Given the description of an element on the screen output the (x, y) to click on. 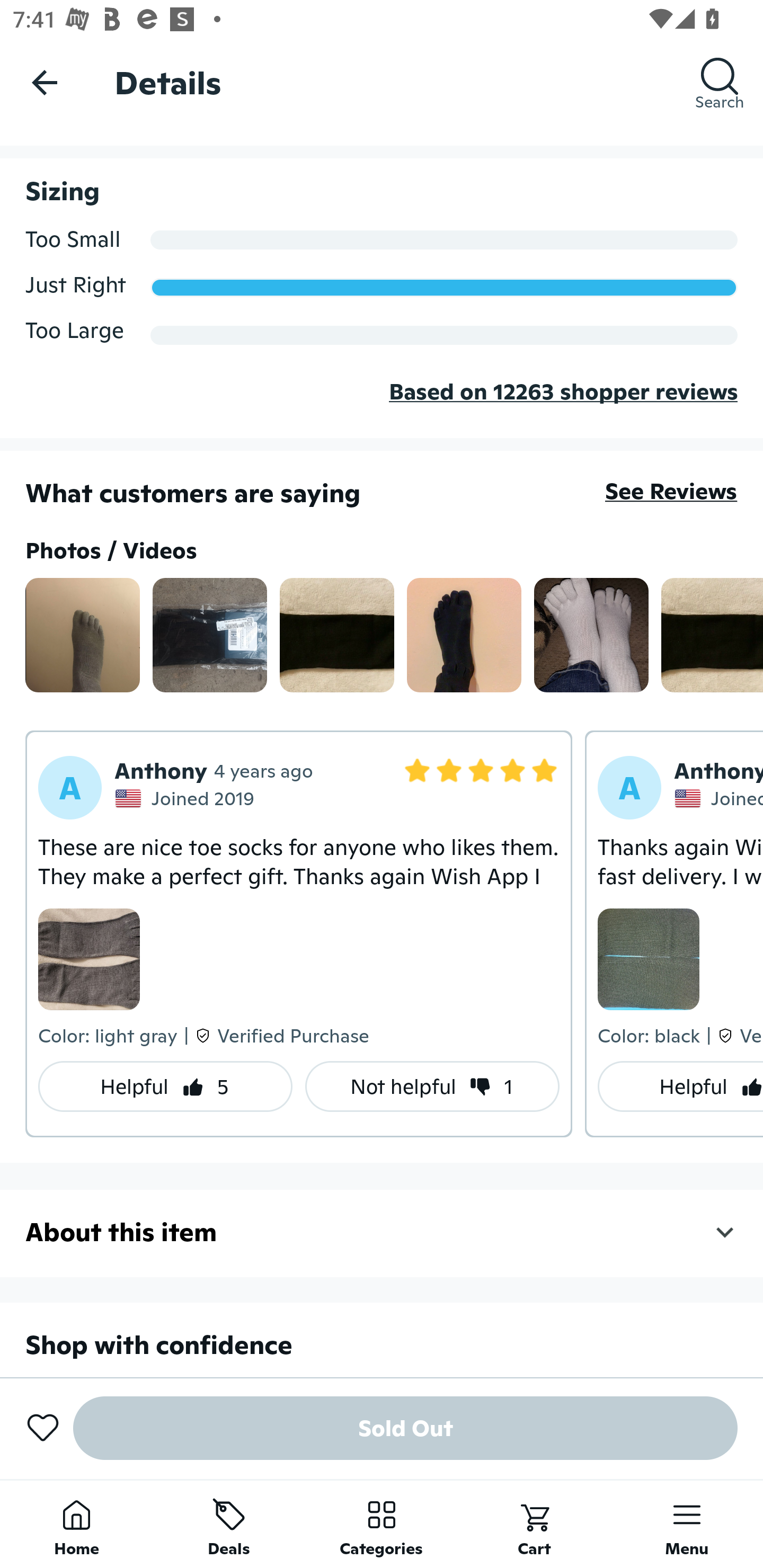
Navigate up (44, 82)
Search (719, 82)
Based on 12263 shopper reviews (381, 405)
See Reviews (671, 491)
A (69, 787)
Anthony (160, 770)
A (629, 787)
Anthony (718, 770)
Joined 2019  (186, 797)
Joined 2017  (718, 797)
Helpful 5 (165, 1086)
Not helpful 1 (432, 1086)
Helpful (680, 1086)
About this item (381, 1232)
Sold Out (405, 1428)
Home (76, 1523)
Deals (228, 1523)
Categories (381, 1523)
Cart (533, 1523)
Menu (686, 1523)
